Given the description of an element on the screen output the (x, y) to click on. 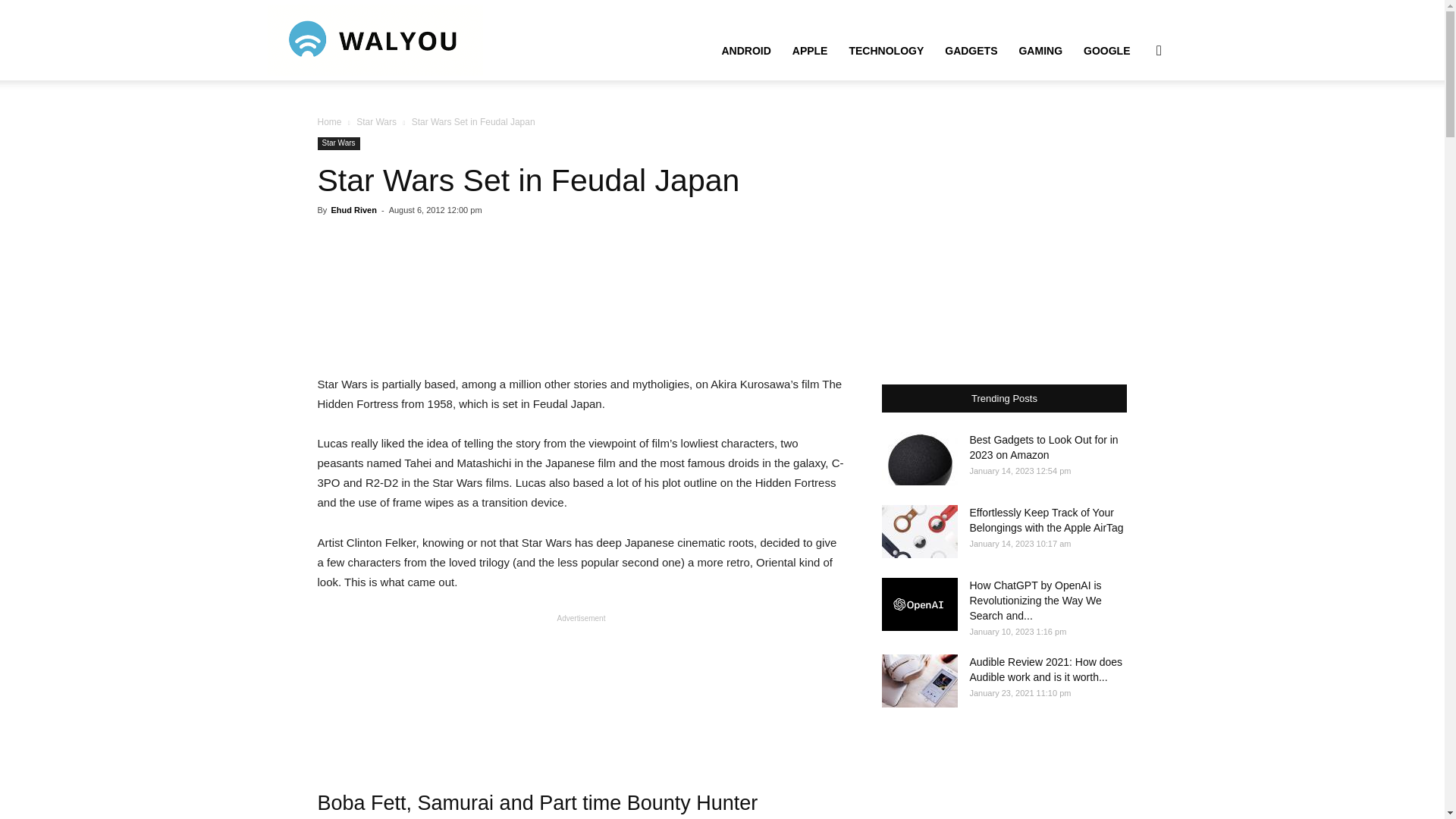
ANDROID (745, 50)
Search (1134, 122)
GOOGLE (1106, 50)
Advertisement (580, 295)
GADGETS (970, 50)
Advertisement (580, 687)
Star Wars (376, 122)
TECHNOLOGY (886, 50)
Walyou (373, 39)
Star Wars (338, 143)
